Given the description of an element on the screen output the (x, y) to click on. 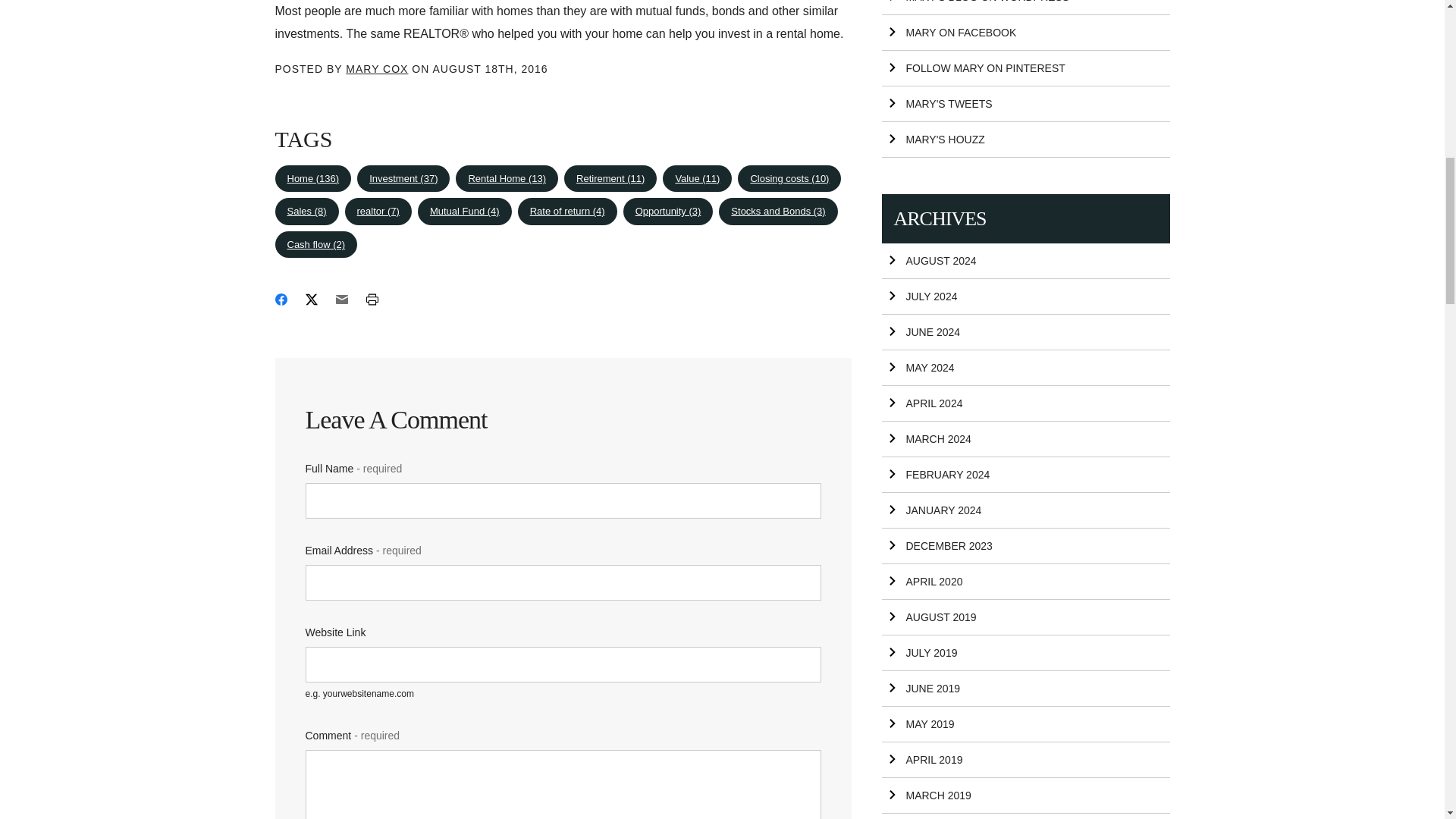
Home (312, 178)
Sales (306, 211)
Opportunity (668, 211)
Cash flow (315, 244)
Stocks and Bonds (778, 211)
Closing costs (789, 178)
Retirement (610, 178)
MARY COX (376, 69)
Rental Home (506, 178)
Mutual Fund (464, 211)
